Given the description of an element on the screen output the (x, y) to click on. 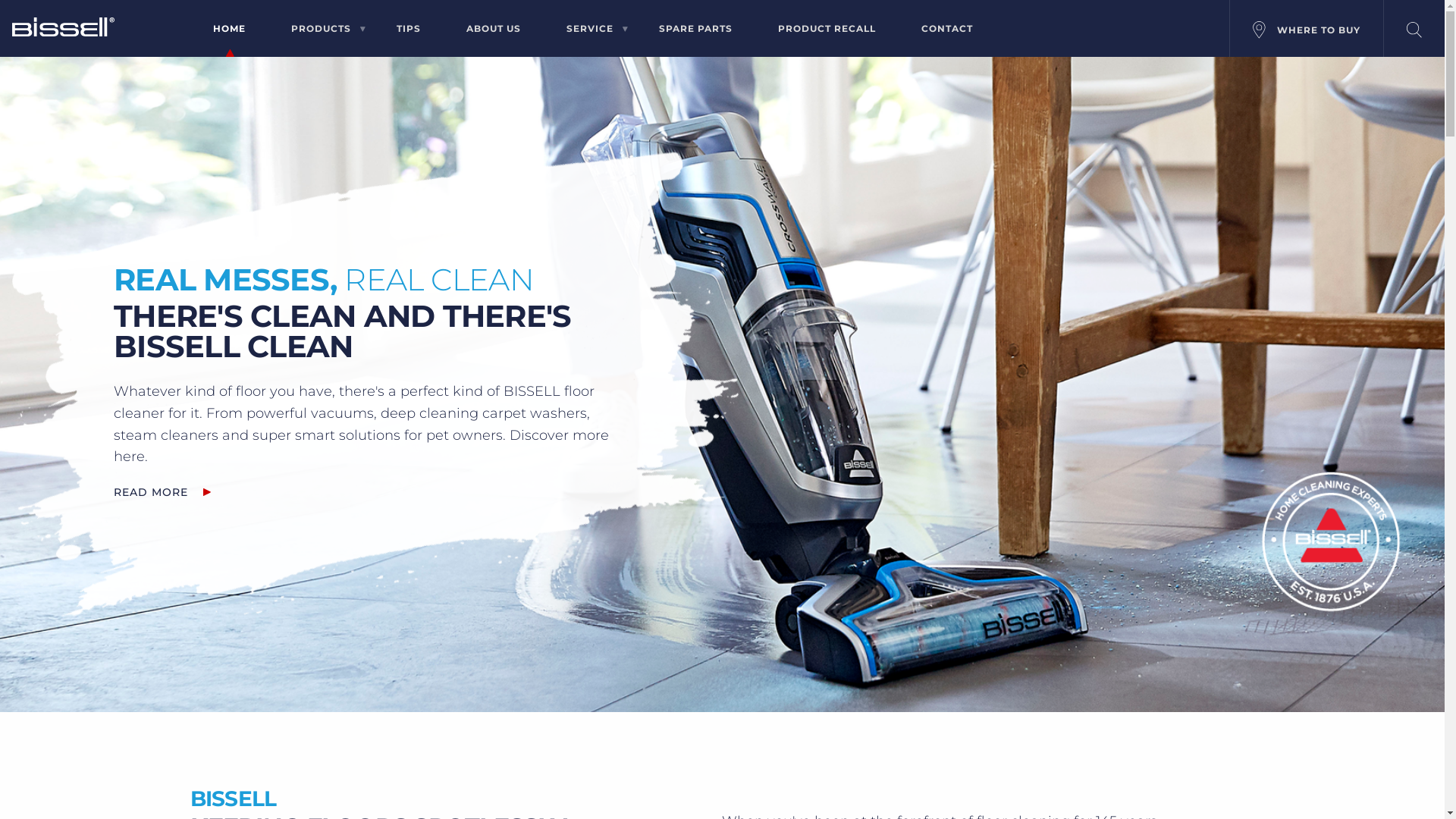
WHERE TO BUY Element type: text (1306, 28)
SERVICE Element type: text (588, 31)
SEARCH Element type: text (1413, 28)
CONTACT Element type: text (945, 31)
TIPS Element type: text (407, 31)
READ MORE Element type: text (150, 492)
ABOUT US Element type: text (492, 31)
PRODUCT RECALL Element type: text (826, 31)
SPARE PARTS Element type: text (694, 31)
PRODUCTS Element type: text (320, 31)
HOME Element type: text (228, 31)
